Given the description of an element on the screen output the (x, y) to click on. 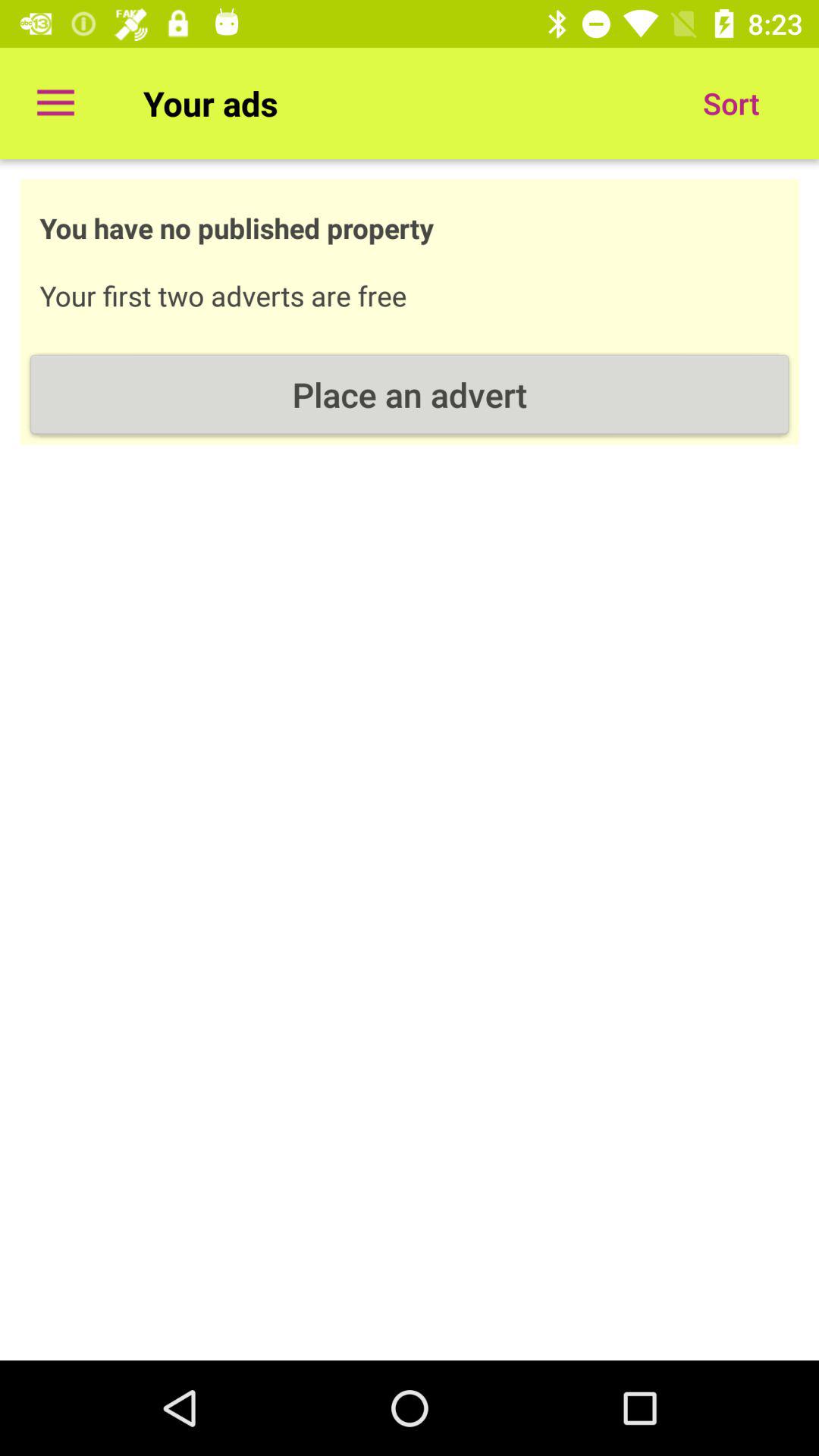
tap the item to the left of your ads (55, 103)
